Given the description of an element on the screen output the (x, y) to click on. 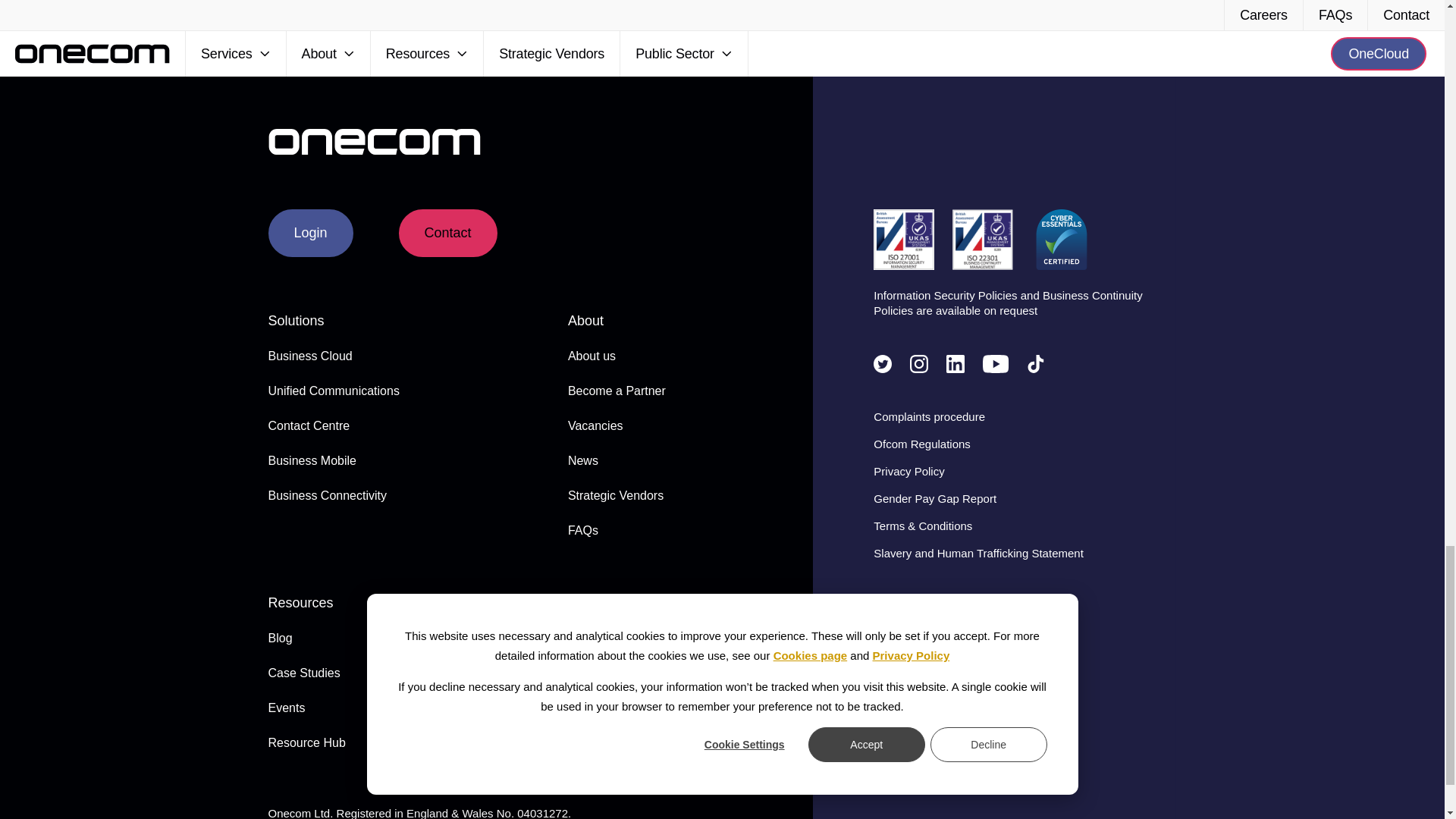
Subscribe (721, 3)
